Given the description of an element on the screen output the (x, y) to click on. 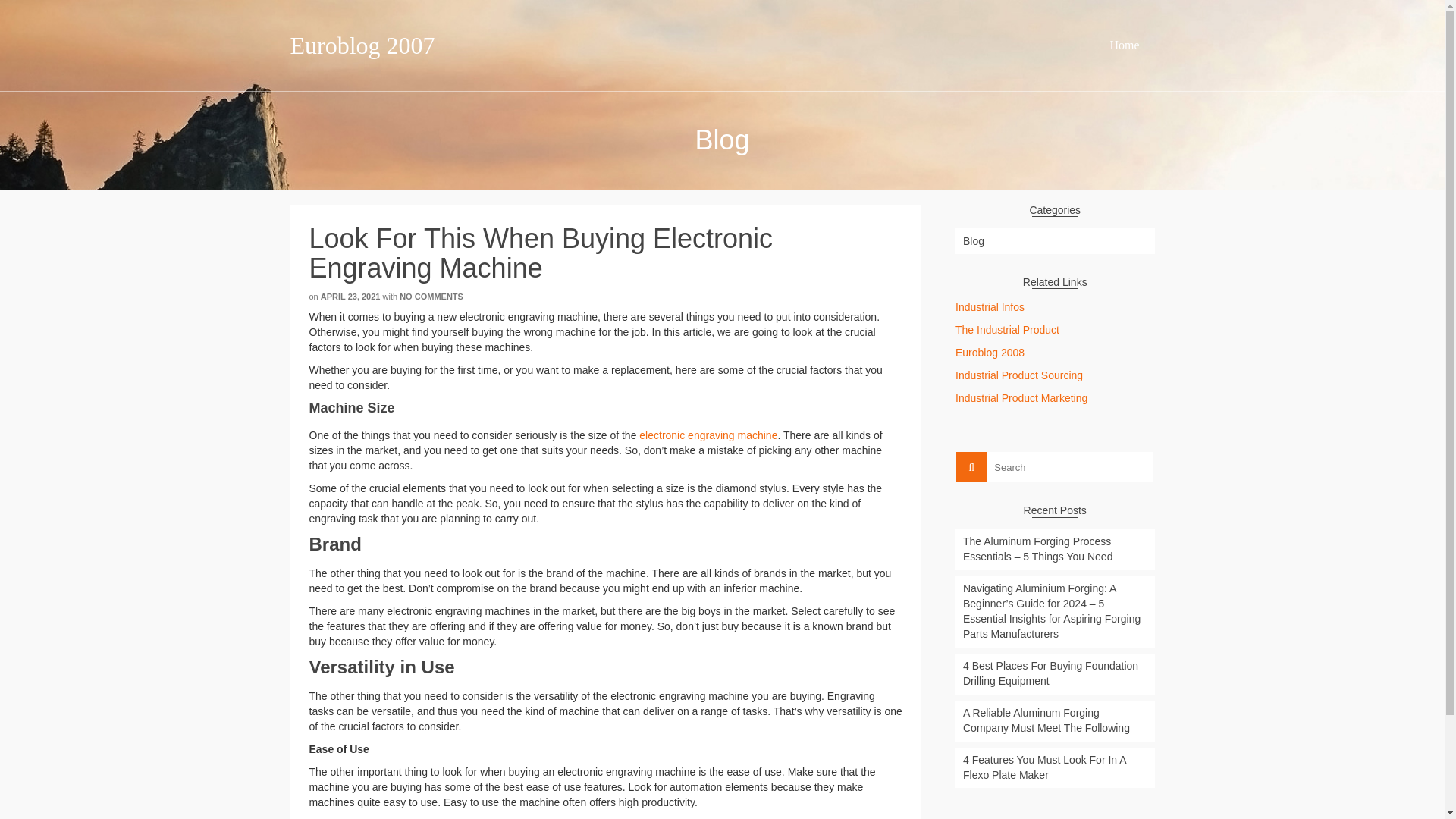
Blog (1054, 240)
A Reliable Aluminum Forging Company Must Meet The Following (1054, 721)
Euroblog 2008 (990, 352)
Industrial Product Sourcing (1019, 375)
The Industrial Product (1007, 329)
NO COMMENTS (430, 296)
4 Features You Must Look For In A Flexo Plate Maker (1054, 767)
Industrial Product Marketing (1021, 398)
Euroblog 2007 (425, 45)
4 Best Places For Buying Foundation Drilling Equipment (1054, 673)
electronic engraving machine (708, 435)
Industrial Infos (990, 306)
